Given the description of an element on the screen output the (x, y) to click on. 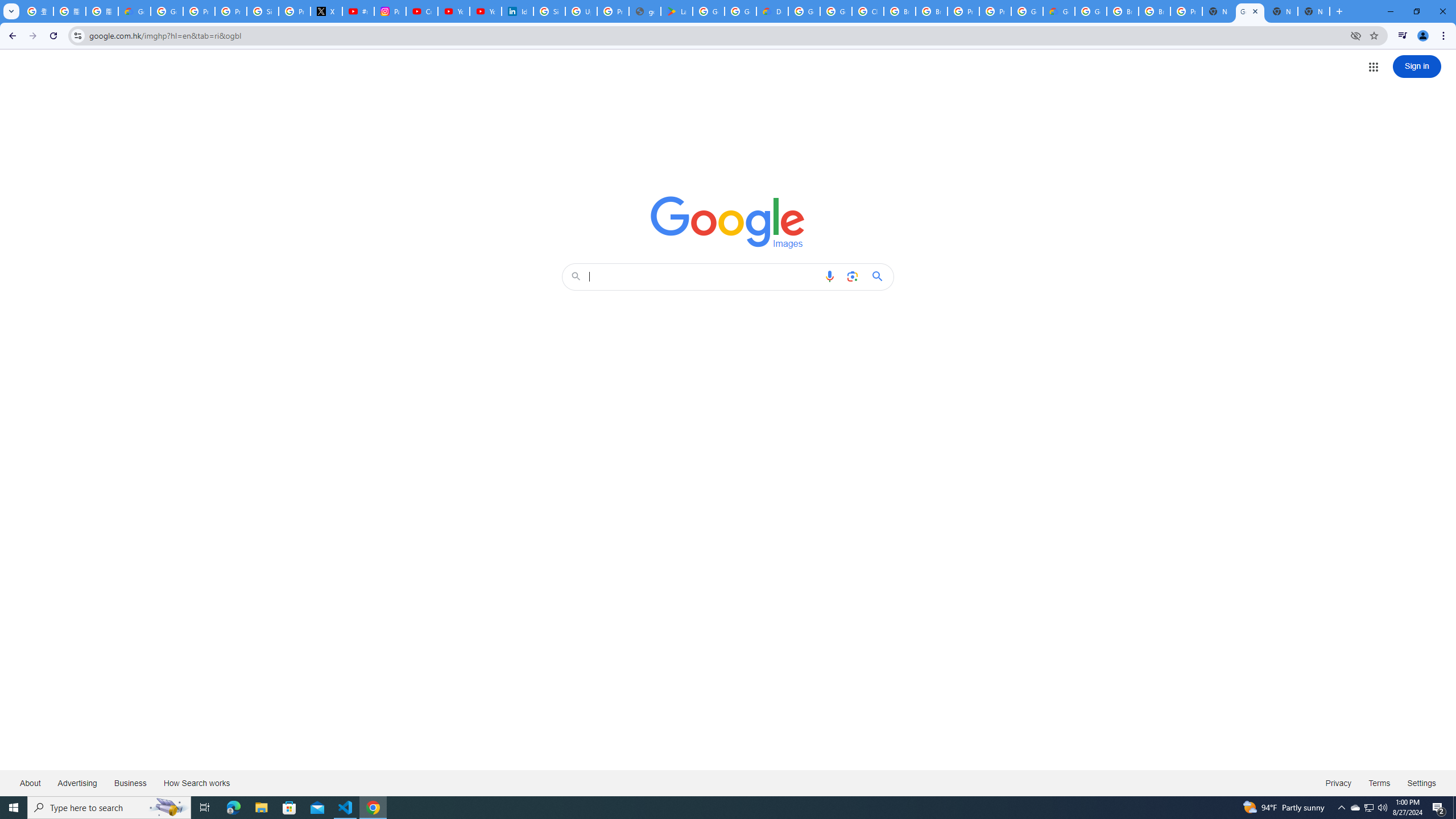
Business (129, 782)
Google Cloud Privacy Notice (134, 11)
New Tab (1313, 11)
Privacy Help Center - Policies Help (230, 11)
Google Cloud Platform (804, 11)
How Search works (196, 782)
